Given the description of an element on the screen output the (x, y) to click on. 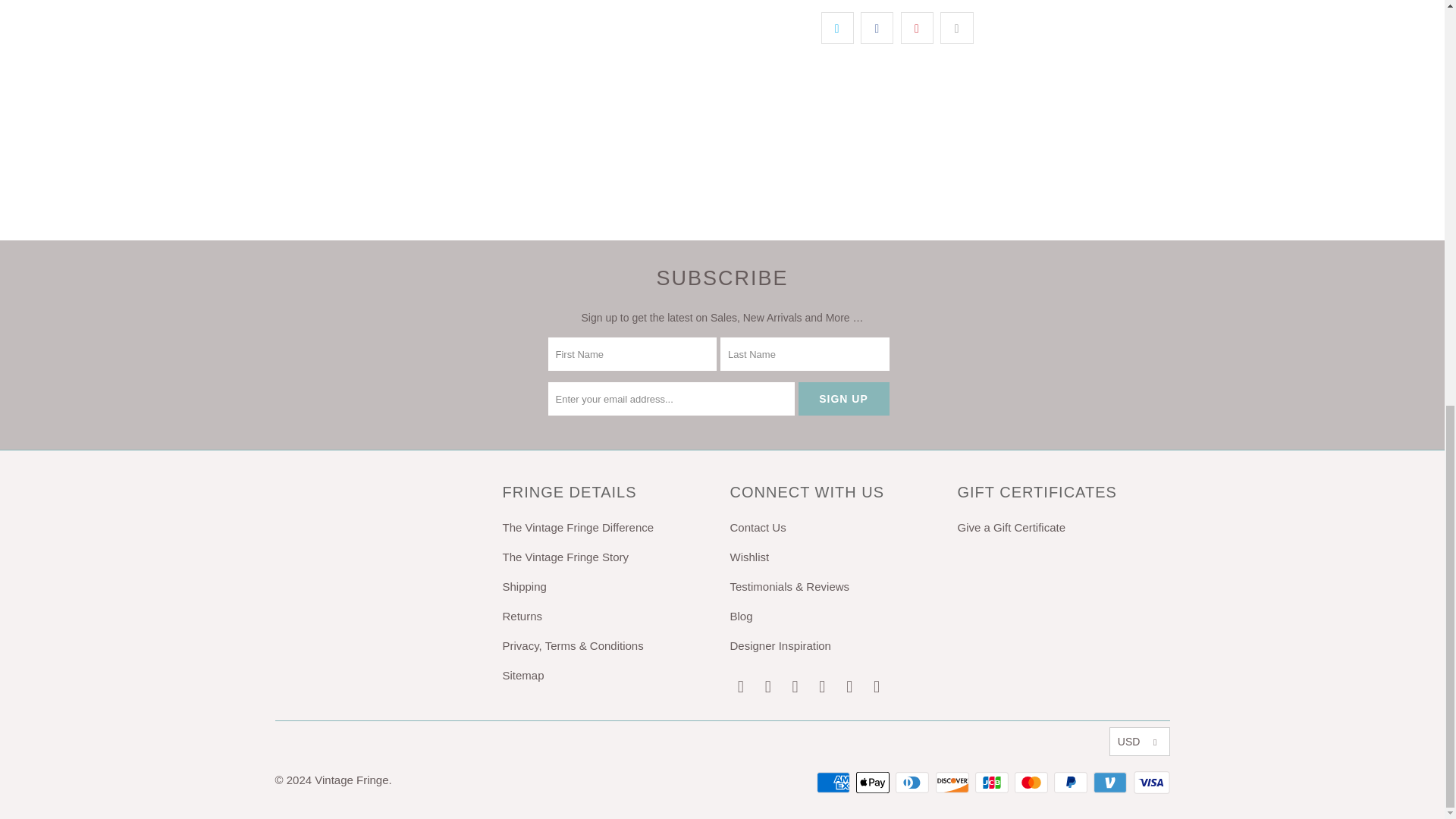
Diners Club (913, 782)
Share this on Twitter (837, 28)
Sign Up (842, 398)
JCB (993, 782)
Share this on Facebook (876, 28)
Email this to a friend (956, 28)
American Express (834, 782)
Mastercard (1032, 782)
Apple Pay (874, 782)
Share this on Pinterest (917, 28)
PayPal (1072, 782)
Visa (1150, 782)
Discover (954, 782)
Venmo (1111, 782)
